Given the description of an element on the screen output the (x, y) to click on. 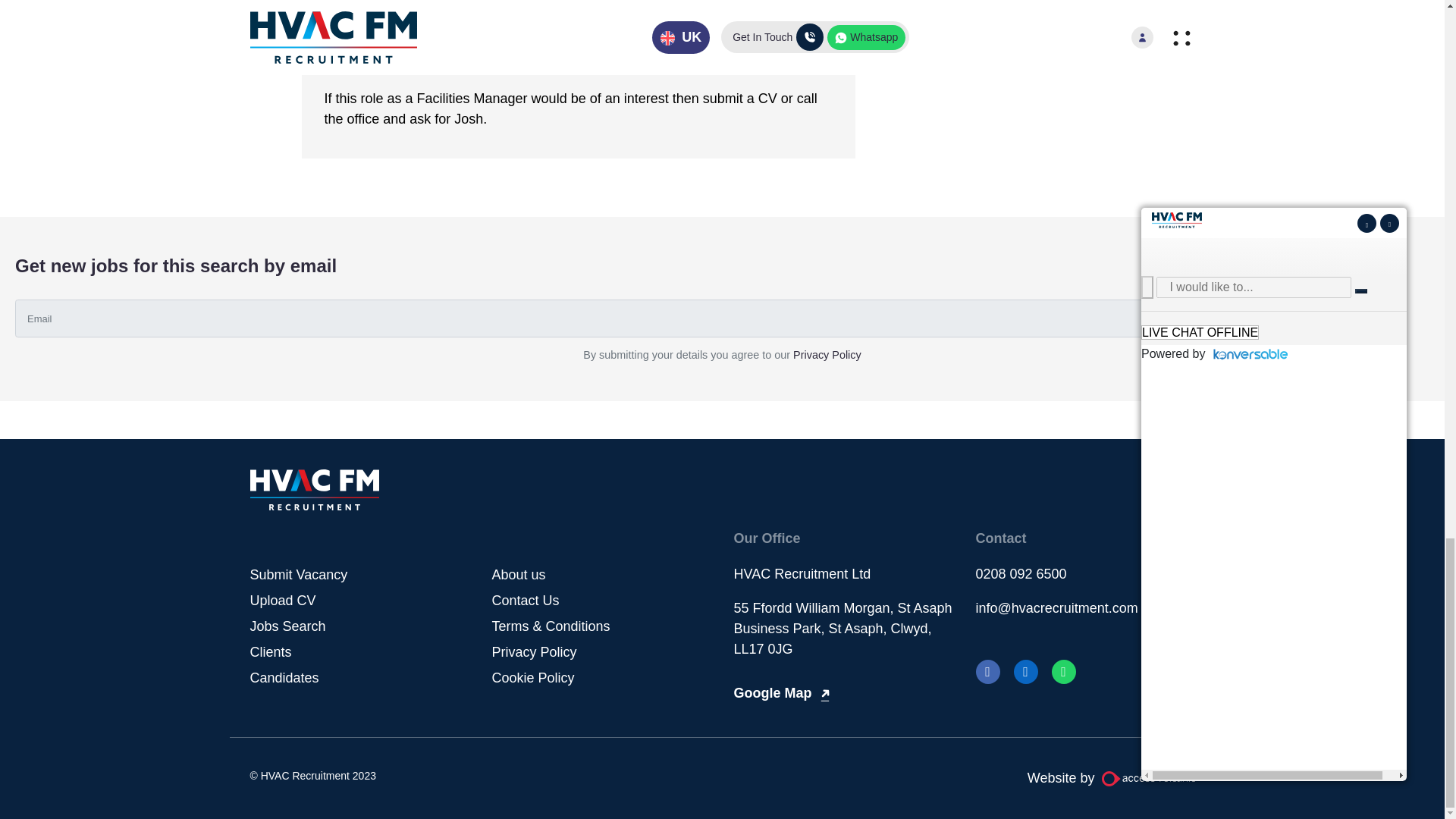
Submit Vacancy (298, 575)
Create alert (1341, 318)
Privacy Policy (827, 354)
Jobs Search (288, 626)
Upload CV (282, 600)
